Given the description of an element on the screen output the (x, y) to click on. 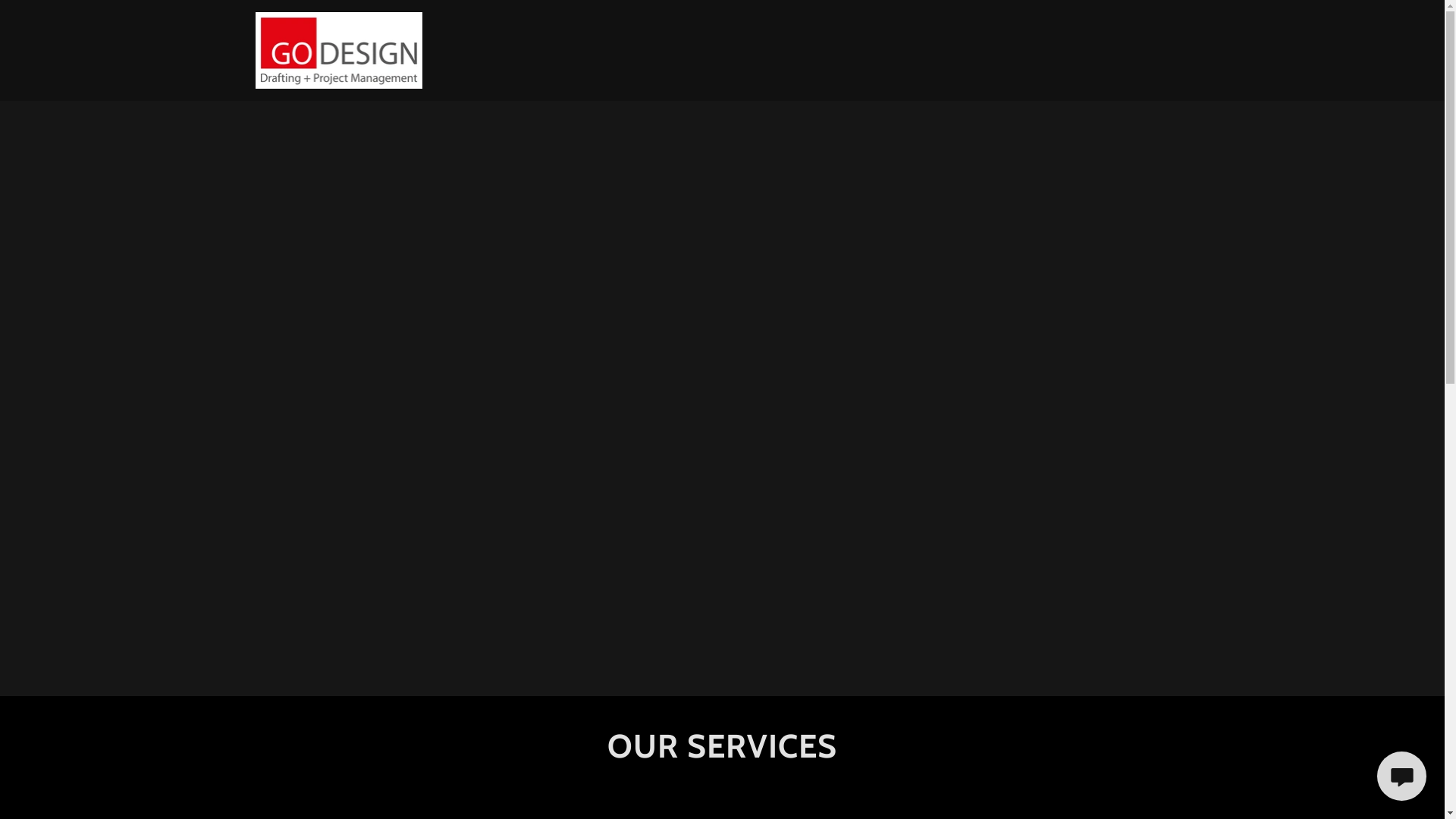
Fuller Group Element type: hover (338, 48)
